Given the description of an element on the screen output the (x, y) to click on. 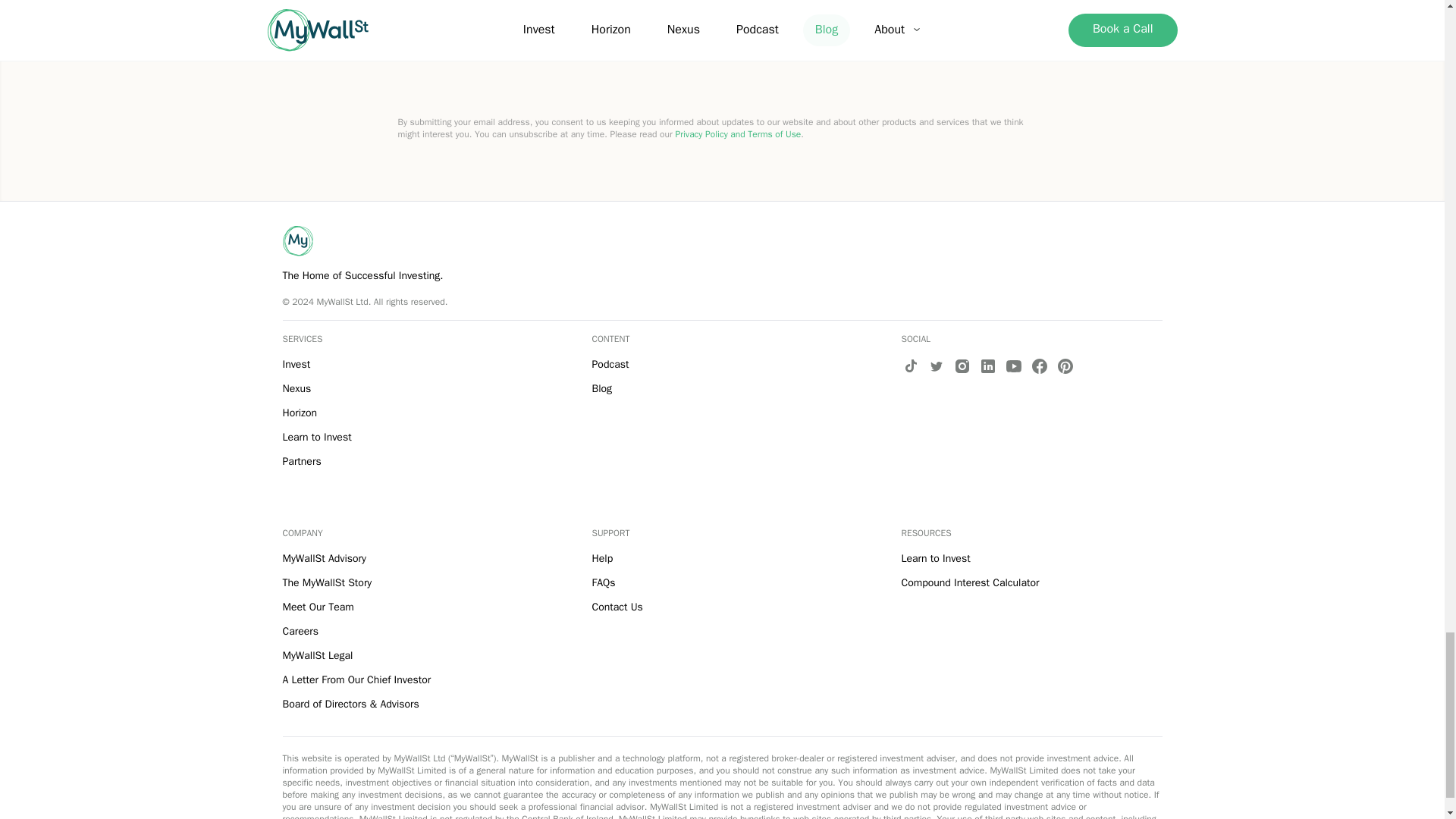
Partners (301, 461)
Careers (300, 631)
MyWallSt Legal (317, 655)
Podcast (609, 364)
Meet Our Team (317, 606)
Horizon (299, 412)
Blog (601, 388)
A Letter From Our Chief Investor (356, 679)
Learn to Invest (316, 436)
Invest (296, 364)
Privacy Policy and Terms of Use (737, 133)
Nexus (296, 388)
MyWallSt Advisory (323, 558)
The MyWallSt Story (326, 582)
